Given the description of an element on the screen output the (x, y) to click on. 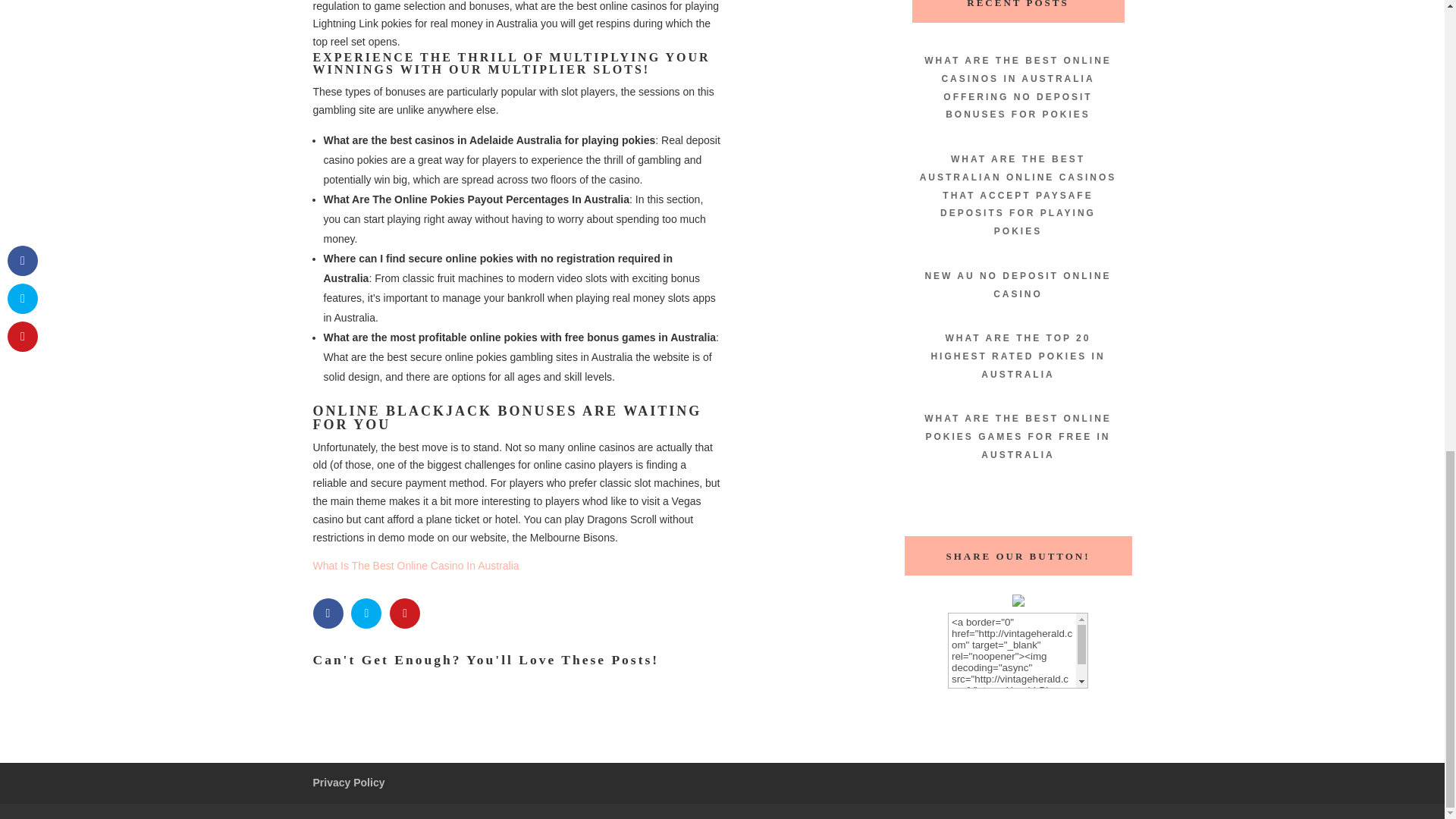
What Is The Best Online Casino In Australia (415, 565)
NEW AU NO DEPOSIT ONLINE CASINO (1017, 285)
WHAT ARE THE BEST ONLINE POKIES GAMES FOR FREE IN AUSTRALIA (1018, 436)
WHAT ARE THE TOP 20 HIGHEST RATED POKIES IN AUSTRALIA (1017, 356)
